Given the description of an element on the screen output the (x, y) to click on. 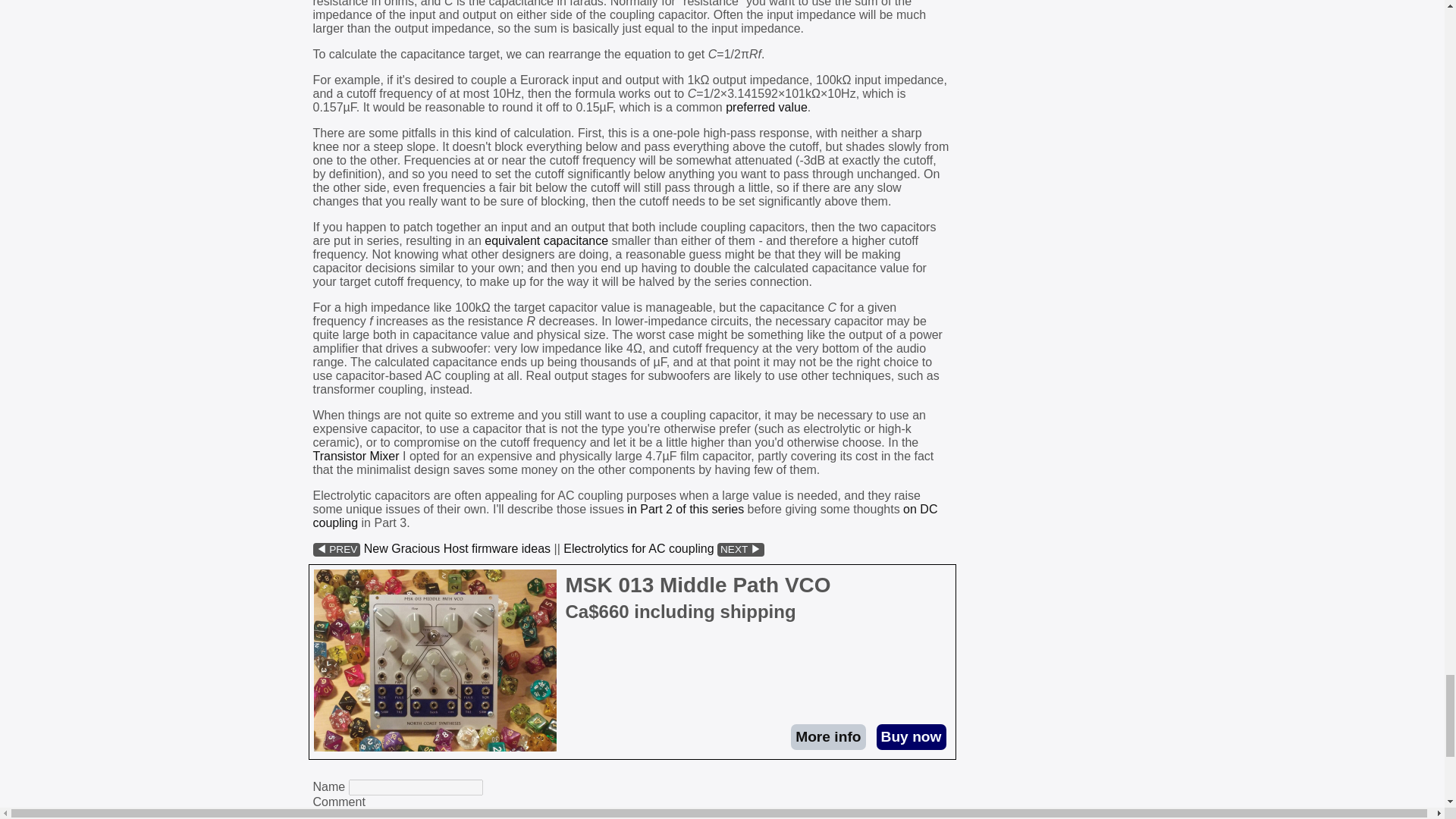
in Part 2 of this series (685, 508)
Buy now (911, 736)
equivalent capacitance (546, 240)
preferred value (766, 106)
More info (827, 736)
on DC coupling (625, 515)
Transistor Mixer (355, 455)
